Given the description of an element on the screen output the (x, y) to click on. 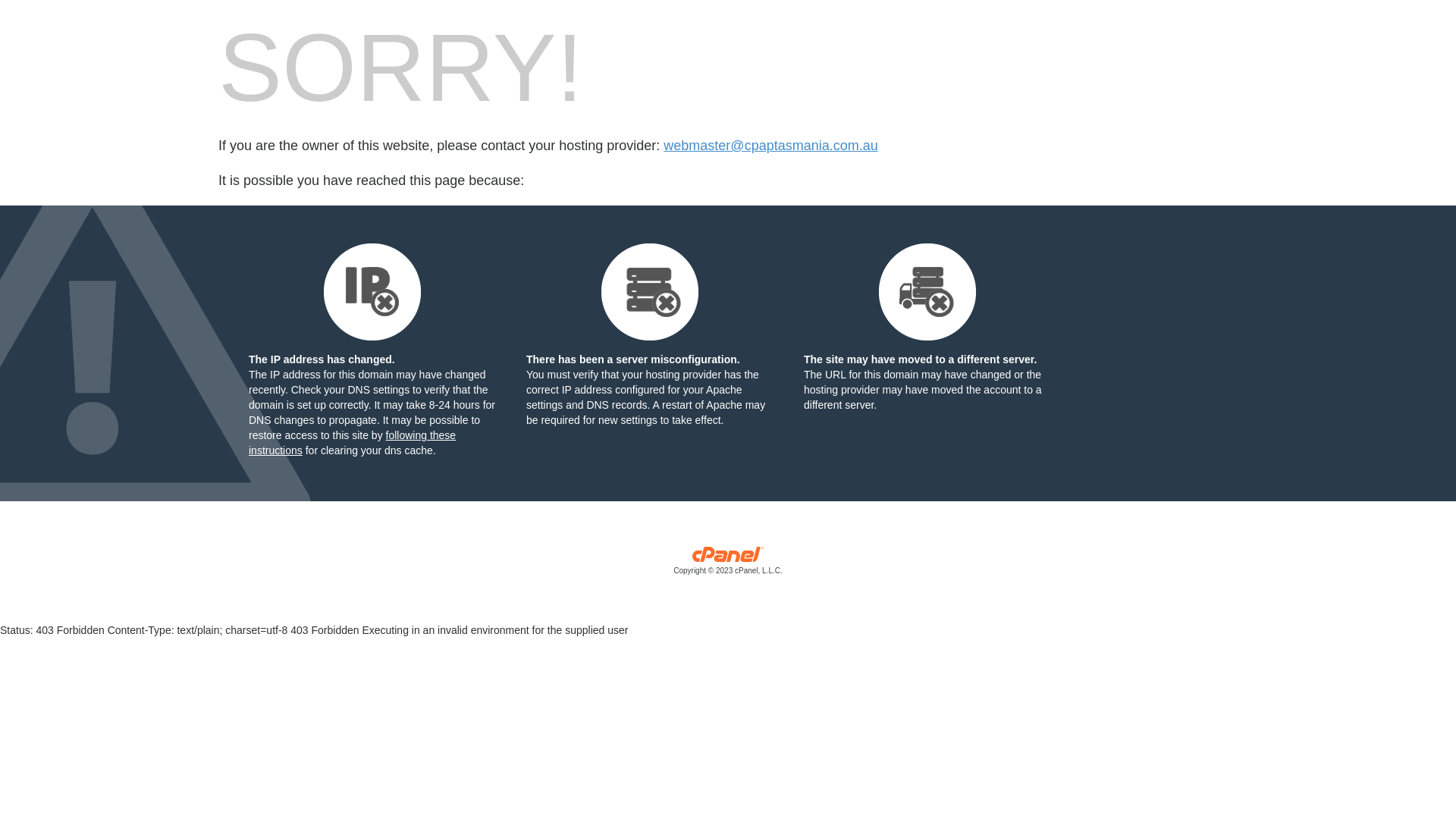
following these instructions Element type: text (351, 442)
webmaster@cpaptasmania.com.au Element type: text (770, 145)
